Given the description of an element on the screen output the (x, y) to click on. 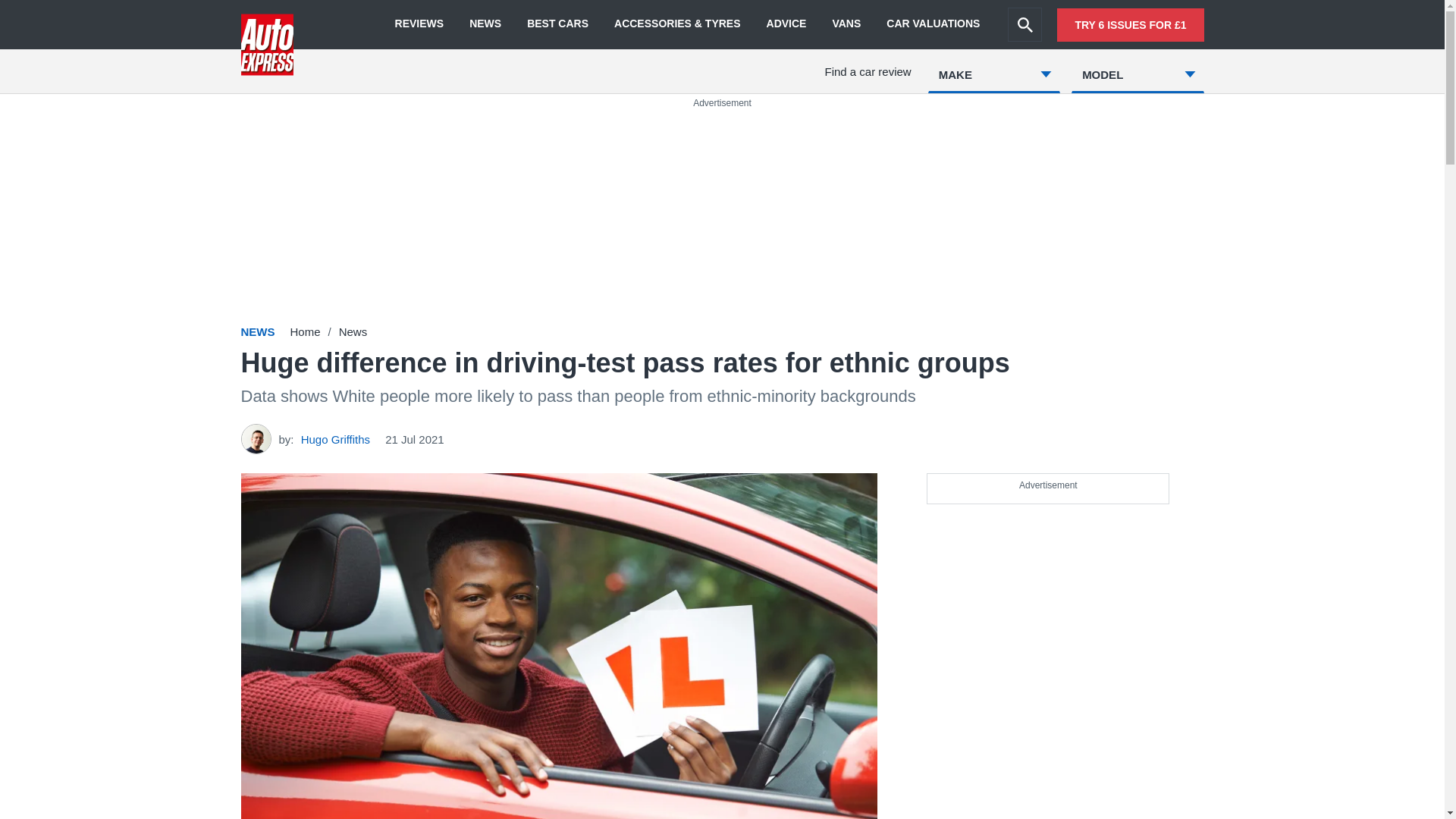
Hugo Griffiths (335, 438)
BEST CARS (557, 24)
VANS (845, 24)
News (353, 331)
Search (1024, 24)
Home (304, 331)
CAR VALUATIONS (932, 24)
Search (1024, 24)
NEWS (485, 24)
REVIEWS (419, 24)
ADVICE (786, 24)
